Given the description of an element on the screen output the (x, y) to click on. 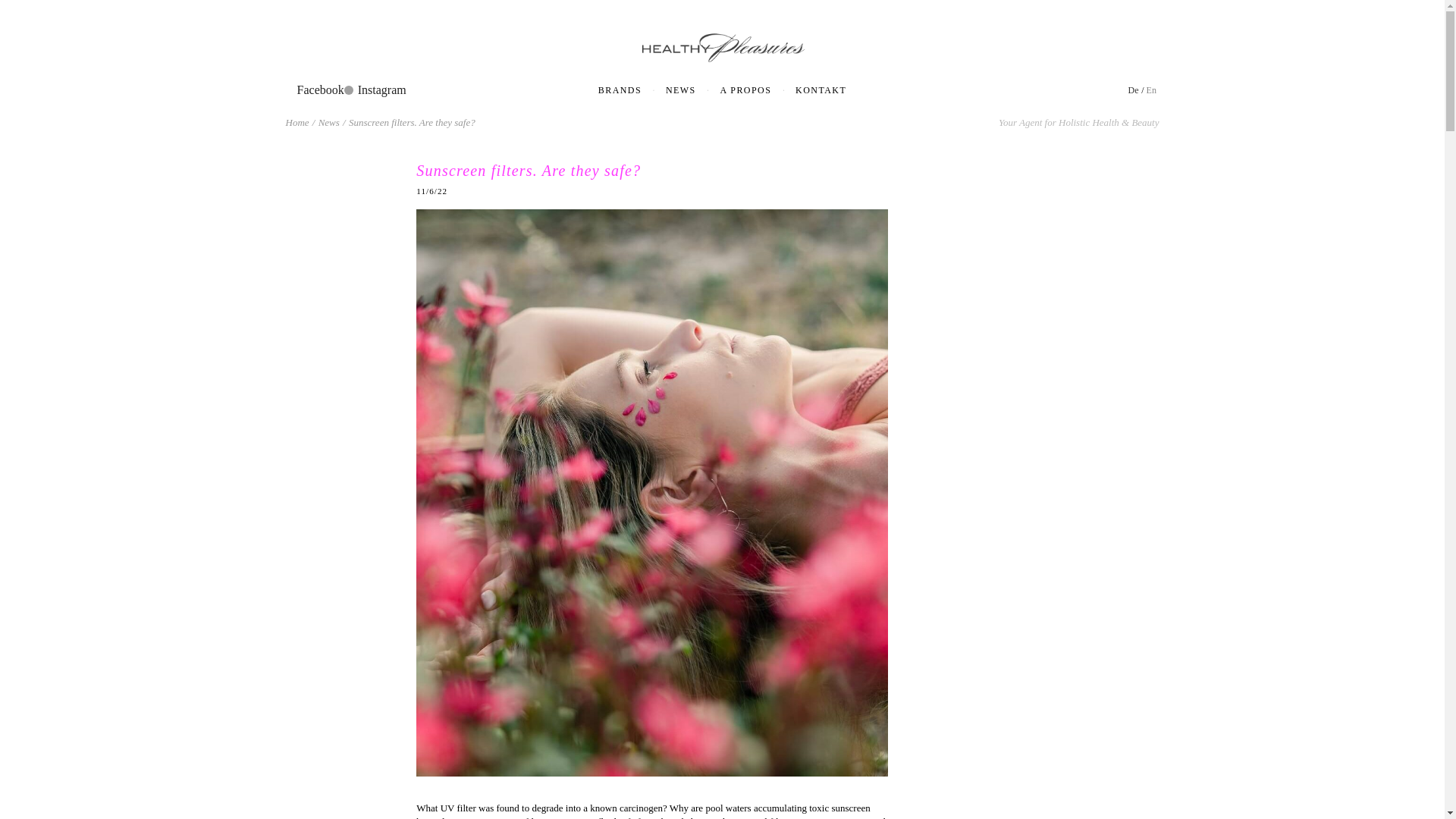
En (1151, 90)
KONTAKT (820, 90)
Facebook (325, 89)
De (1133, 90)
Instagram (386, 89)
De (1133, 90)
A PROPOS (746, 90)
BRANDS (619, 90)
NEWS (679, 90)
